Given the description of an element on the screen output the (x, y) to click on. 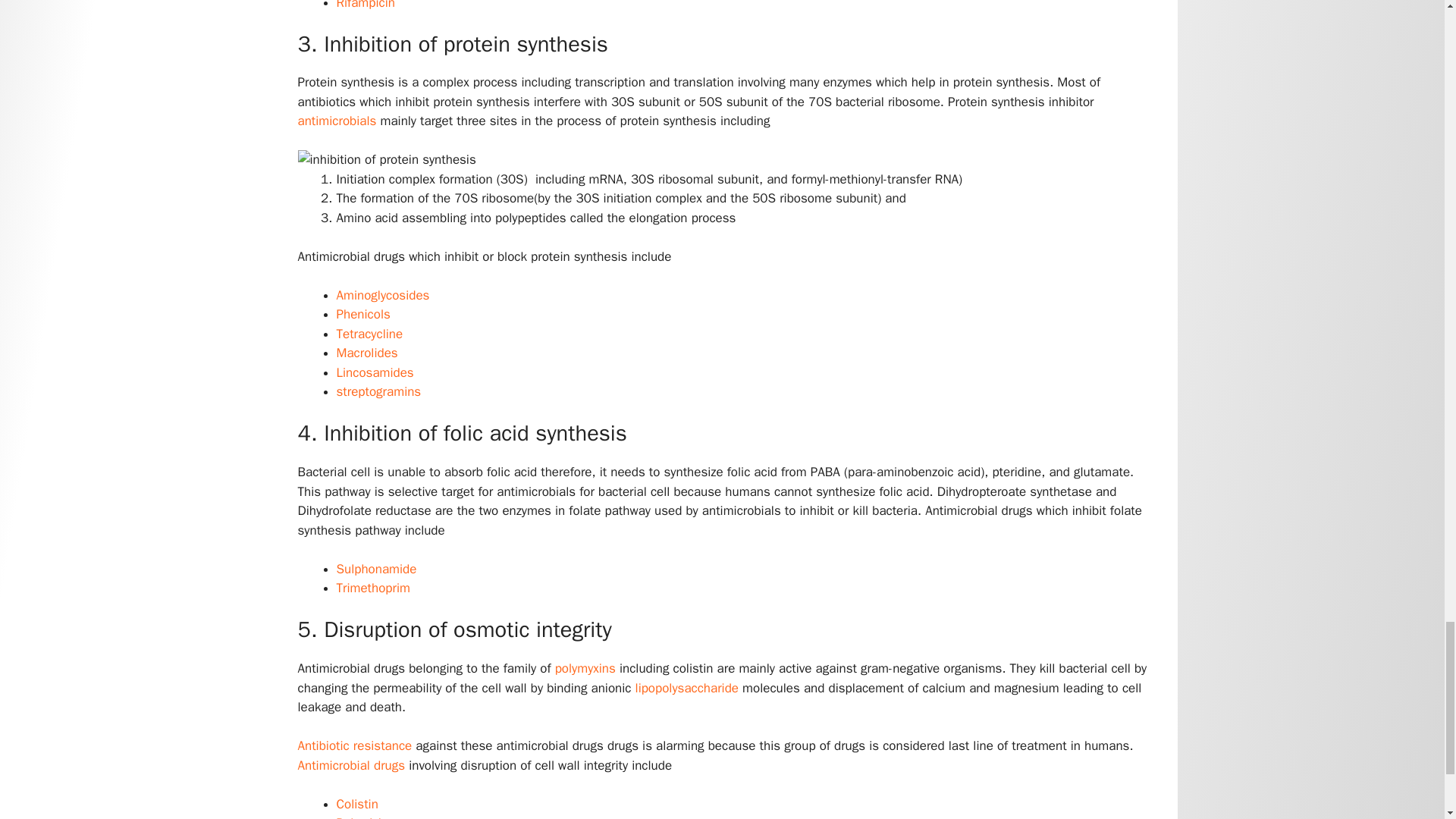
Rifampicin (365, 5)
antimicrobials (338, 120)
